Given the description of an element on the screen output the (x, y) to click on. 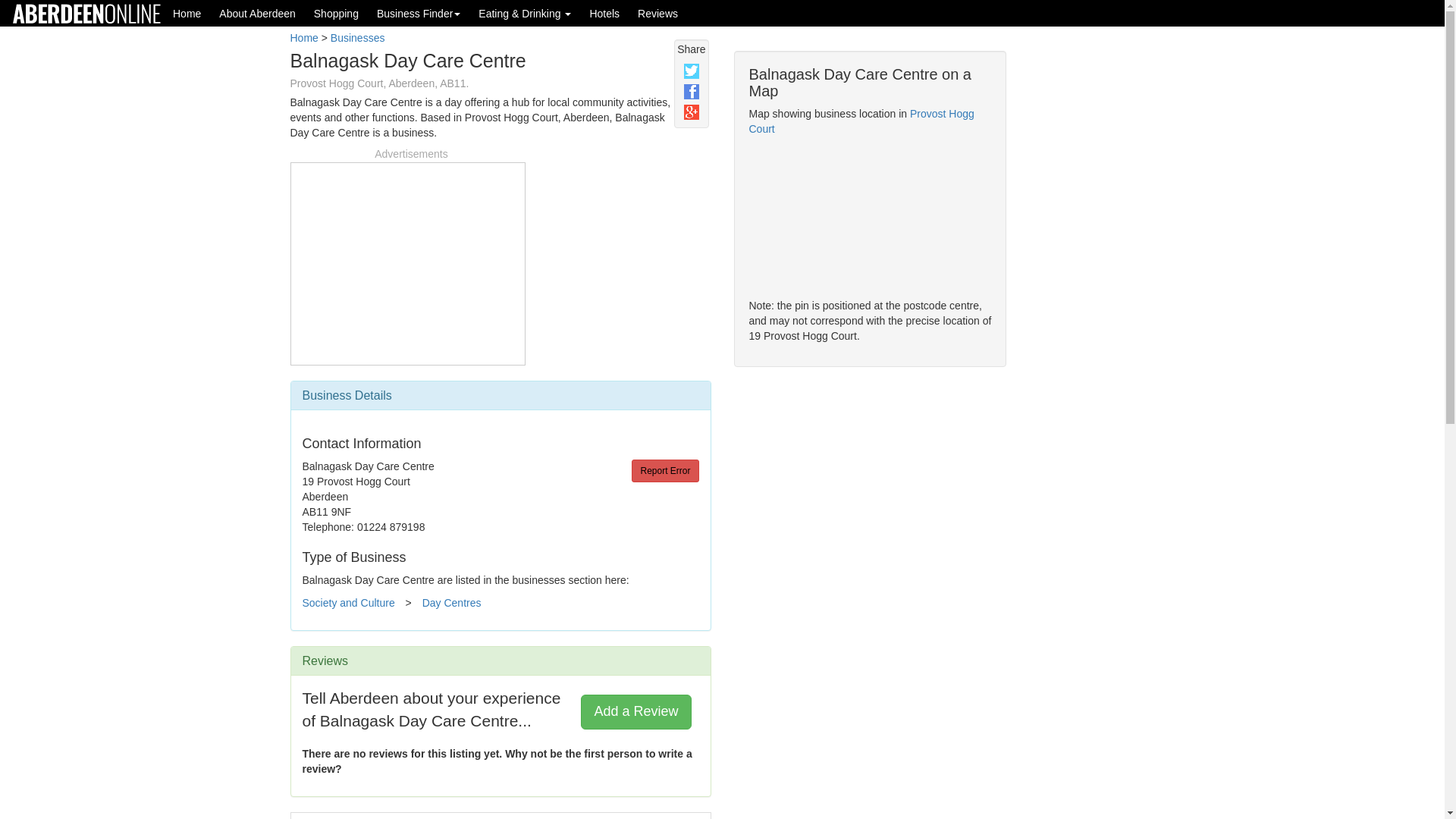
Provost Hogg Court (861, 121)
Businesses (357, 37)
Shopping (336, 12)
Report Error (664, 470)
Advertisement (407, 261)
Society and Culture (347, 603)
About Aberdeen (256, 12)
Report Error (664, 470)
Business Finder (418, 12)
Reviews (657, 12)
Add a Review (635, 711)
Home (186, 12)
Home (303, 37)
Day Centres (451, 603)
Hotels (603, 12)
